Given the description of an element on the screen output the (x, y) to click on. 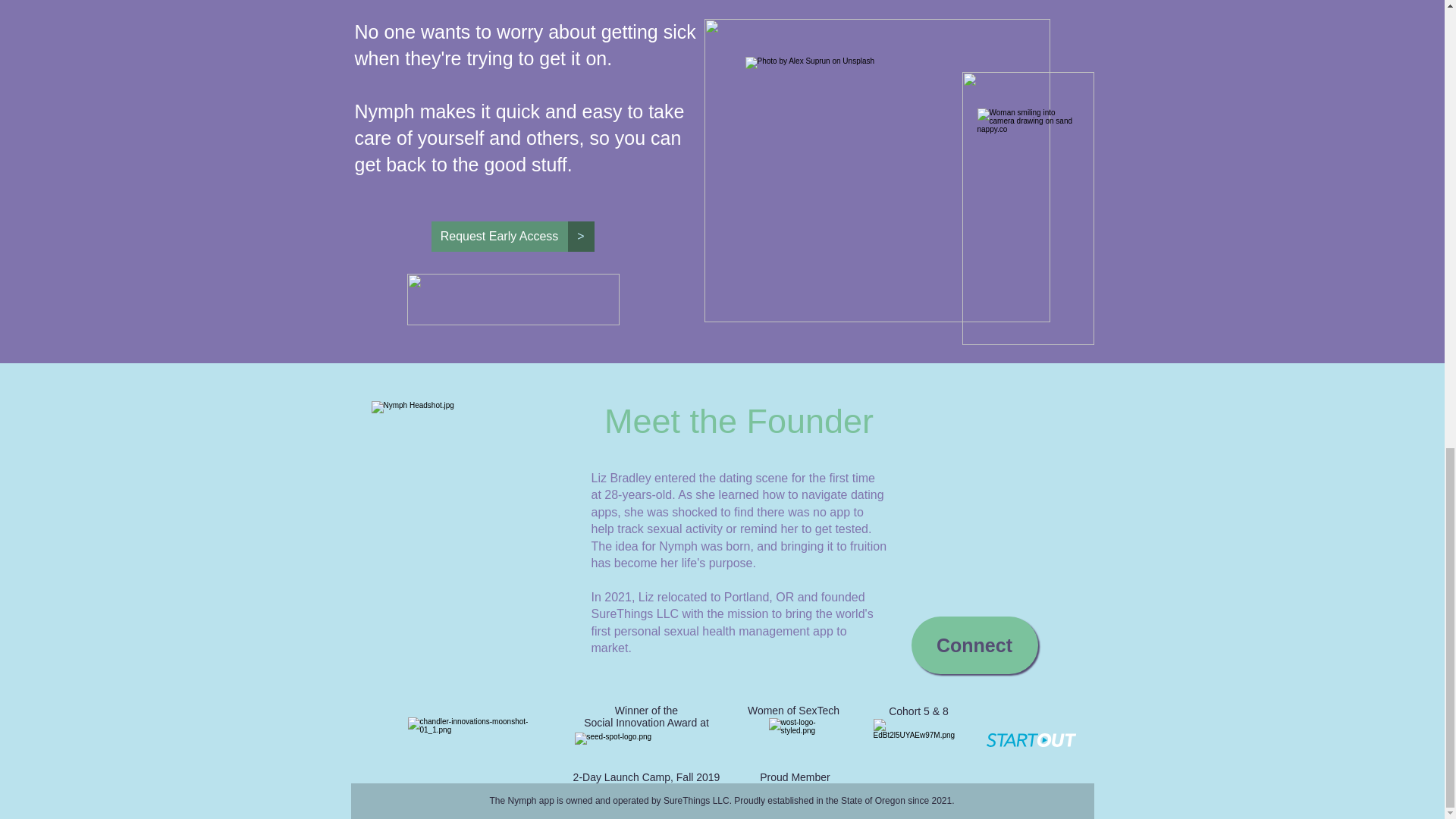
Request Early Access (498, 236)
Connect (974, 645)
